Given the description of an element on the screen output the (x, y) to click on. 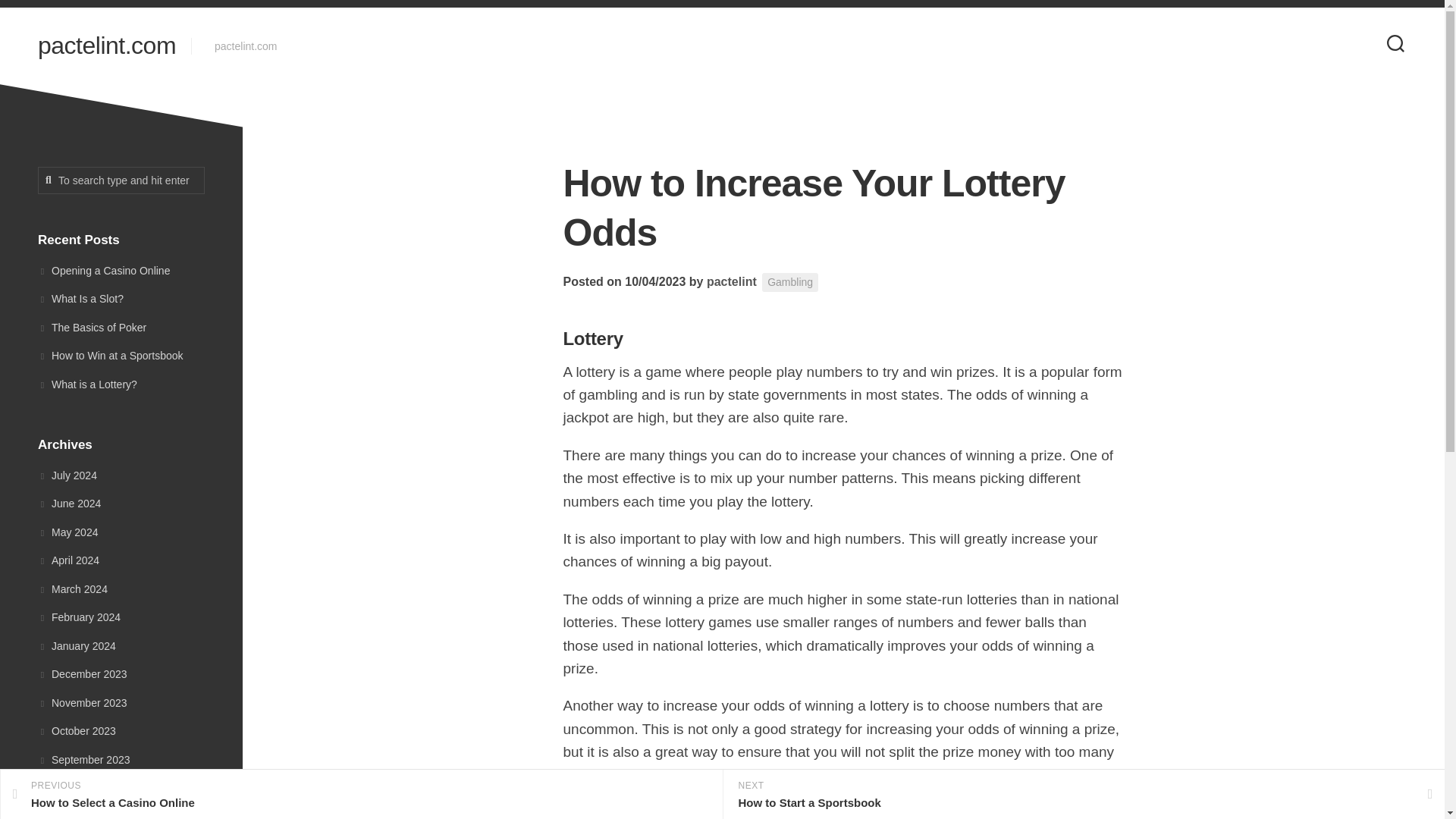
Opening a Casino Online (103, 269)
September 2023 (84, 759)
Gambling (789, 281)
January 2024 (76, 645)
December 2023 (82, 674)
How to Win at a Sportsbook (110, 355)
April 2024 (68, 560)
The Basics of Poker (92, 327)
March 2024 (72, 588)
To search type and hit enter (121, 180)
October 2023 (76, 730)
What is a Lottery? (86, 383)
July 2024 (67, 474)
February 2024 (78, 616)
